Given the description of an element on the screen output the (x, y) to click on. 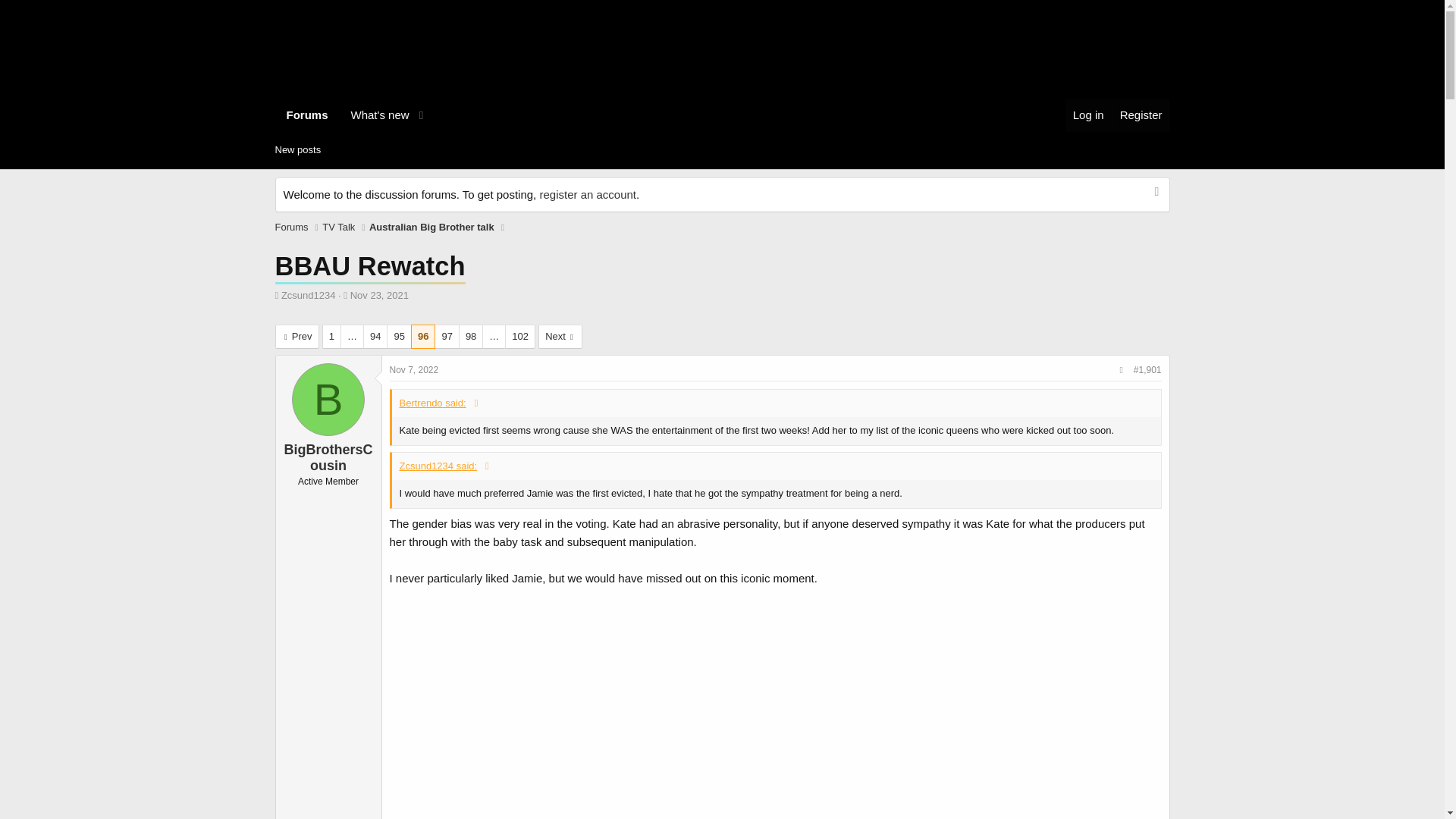
Australian Big Brother talk (432, 227)
98 (470, 336)
Prev (296, 336)
TV Talk (338, 227)
Zcsund1234 (308, 295)
Go to page (351, 336)
New posts (296, 149)
Forums (307, 114)
96 (422, 336)
Next (560, 336)
